Given the description of an element on the screen output the (x, y) to click on. 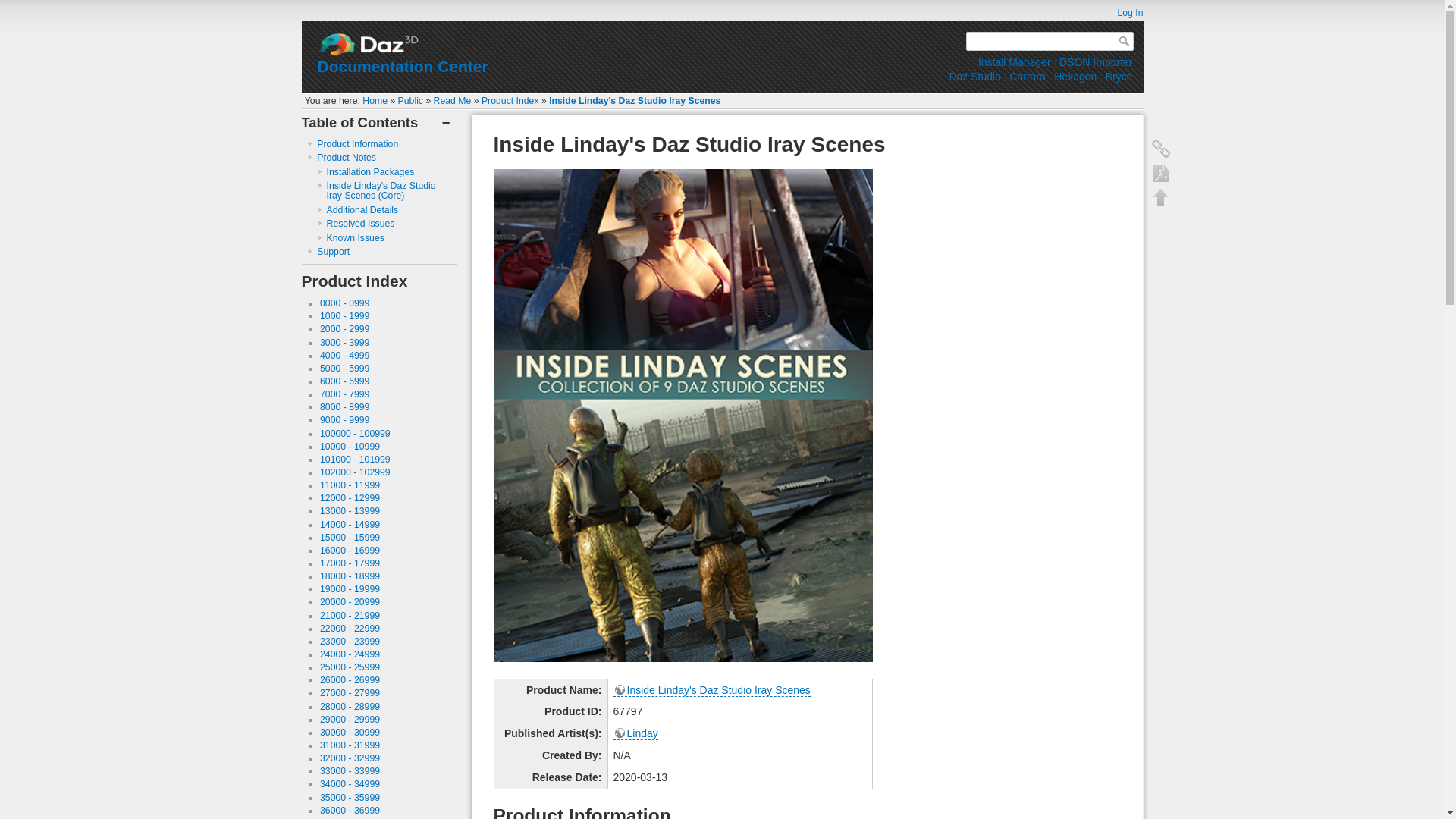
Search (1125, 40)
Read Me (452, 100)
Install Manager (1014, 61)
Log In (1122, 12)
Bryce (1118, 76)
Inside Linday's Daz Studio Iray Scenes (634, 100)
5000 - 5999 (344, 368)
10000 - 10999 (350, 446)
102000 - 102999 (355, 471)
public:software:bryce:start (1118, 76)
